Given the description of an element on the screen output the (x, y) to click on. 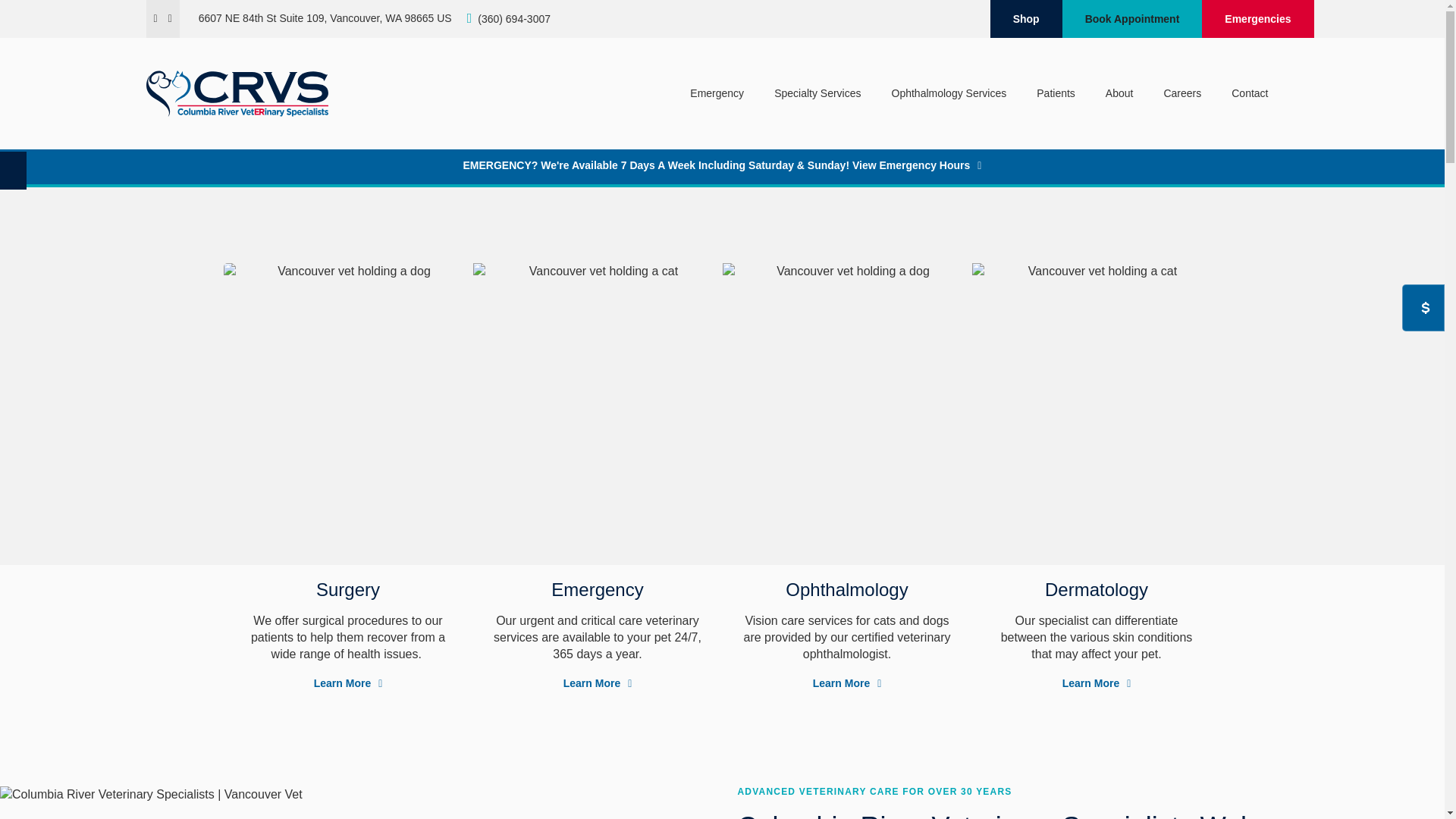
Shop (1026, 18)
Specialty Services (817, 93)
Emergency (716, 93)
Emergencies (1257, 18)
Book Appointment (1132, 18)
